Given the description of an element on the screen output the (x, y) to click on. 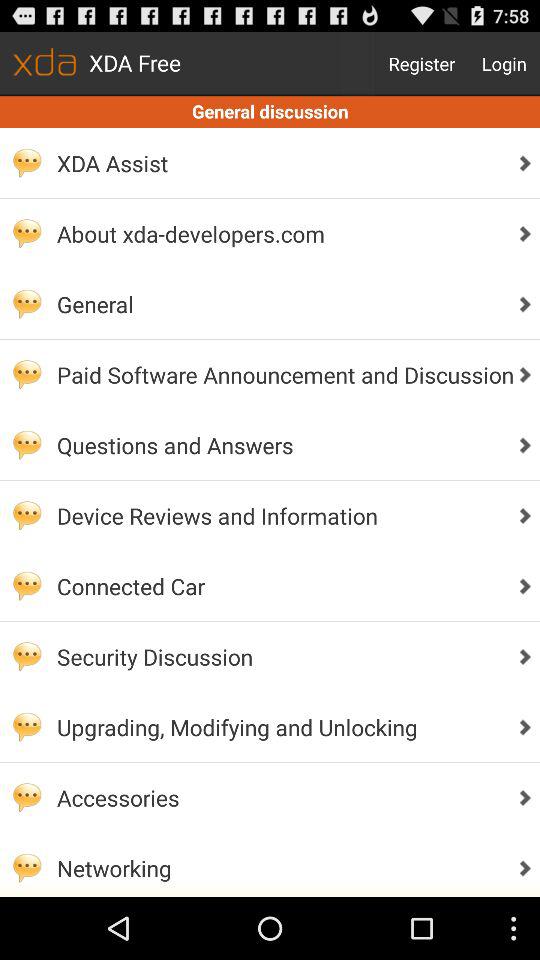
choose item to the right of the xda free icon (421, 63)
